Given the description of an element on the screen output the (x, y) to click on. 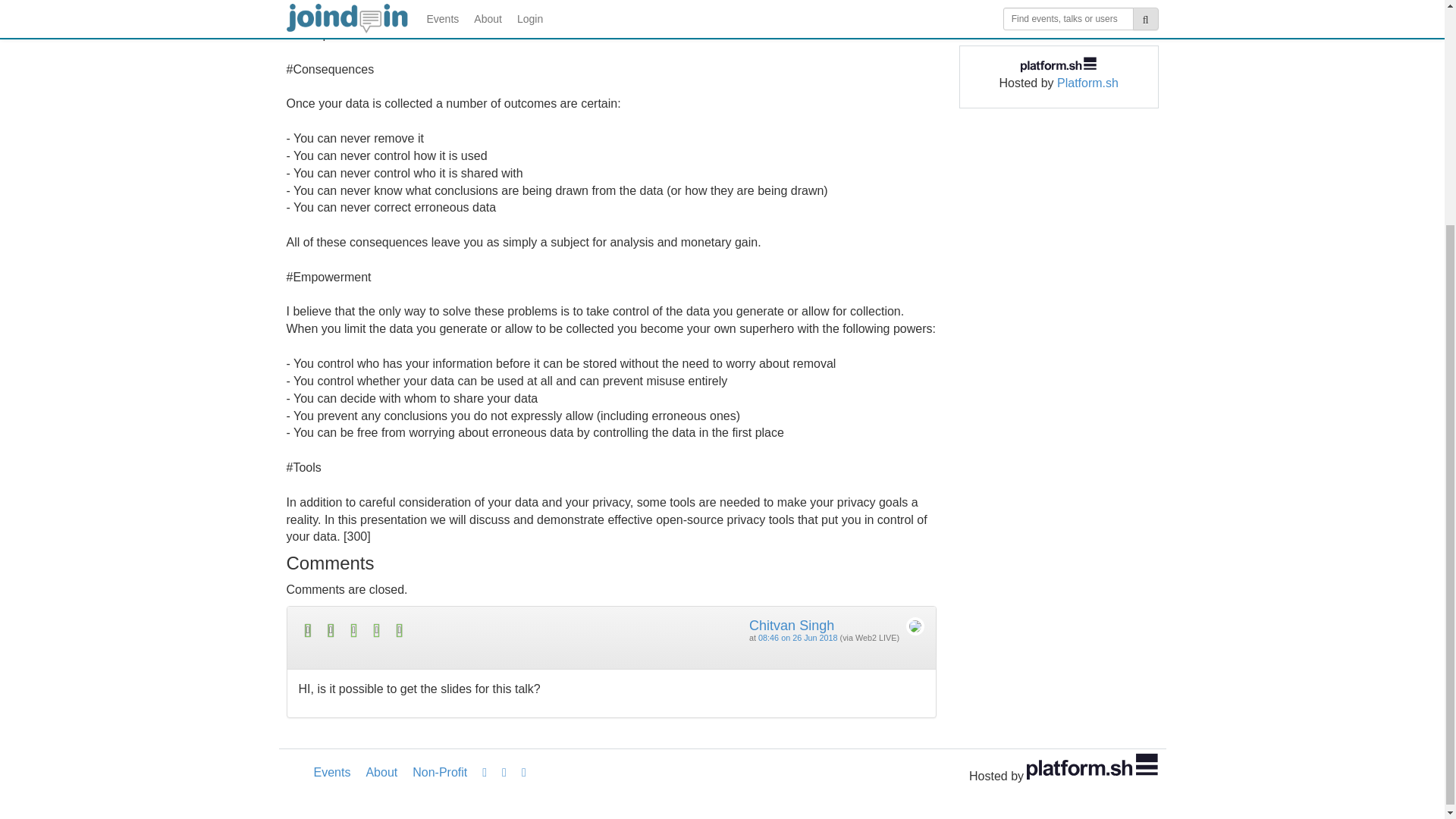
Rated 5 (454, 629)
Forgotten username (1019, 1)
Platform.sh (1087, 82)
About (381, 772)
Non-Profit (439, 772)
Events (331, 772)
Chitvan Singh (791, 625)
08:46 on 26 Jun 2018 (797, 637)
